Given the description of an element on the screen output the (x, y) to click on. 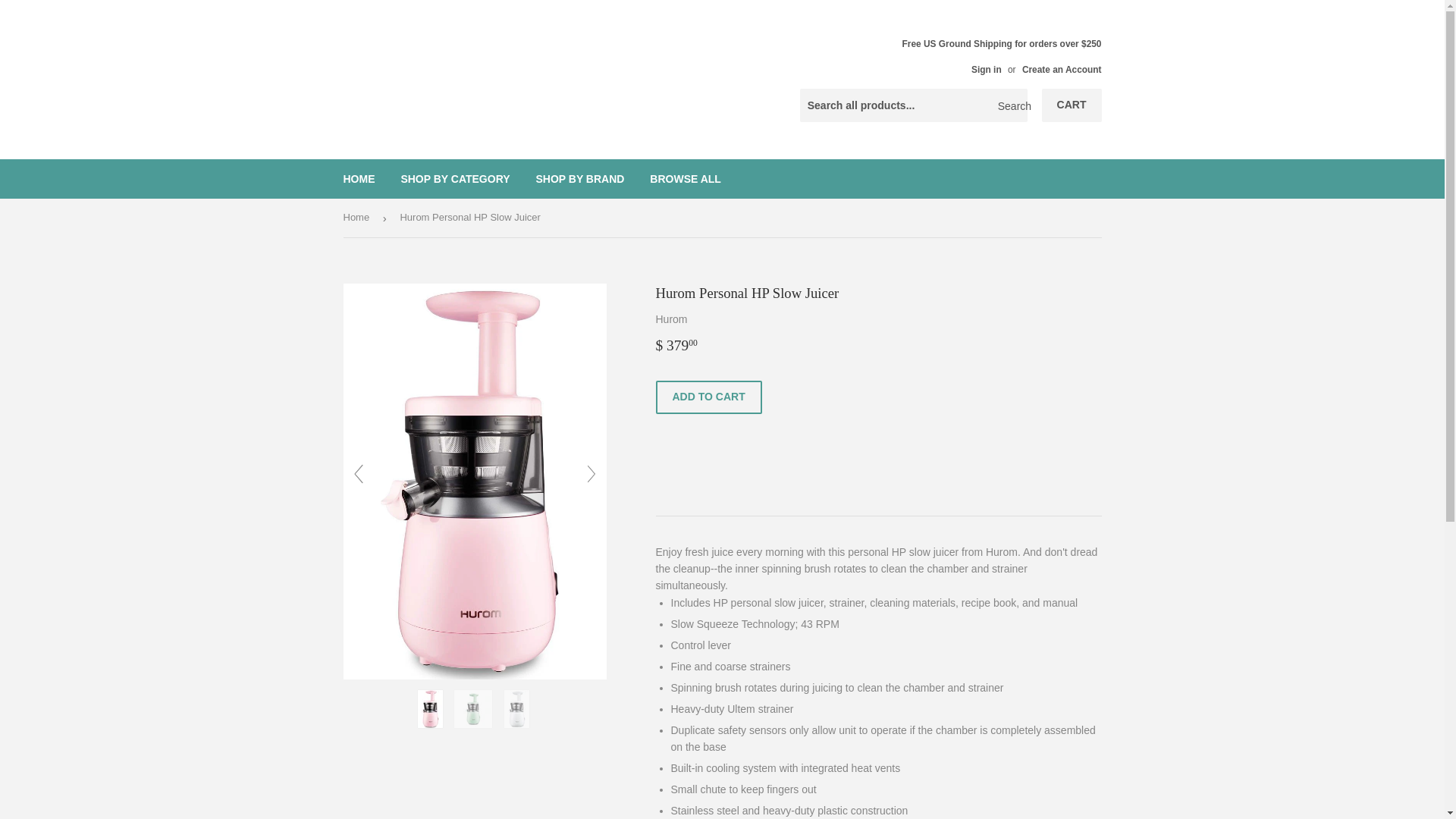
SHOP BY CATEGORY (454, 178)
Hurom Personal HP Slow Juicer (474, 675)
ADD TO CART (708, 397)
Create an Account (1062, 69)
Sign in (986, 69)
BROWSE ALL (685, 178)
SHOP BY BRAND (579, 178)
Search (1009, 106)
CART (1072, 105)
HOME (359, 178)
